Given the description of an element on the screen output the (x, y) to click on. 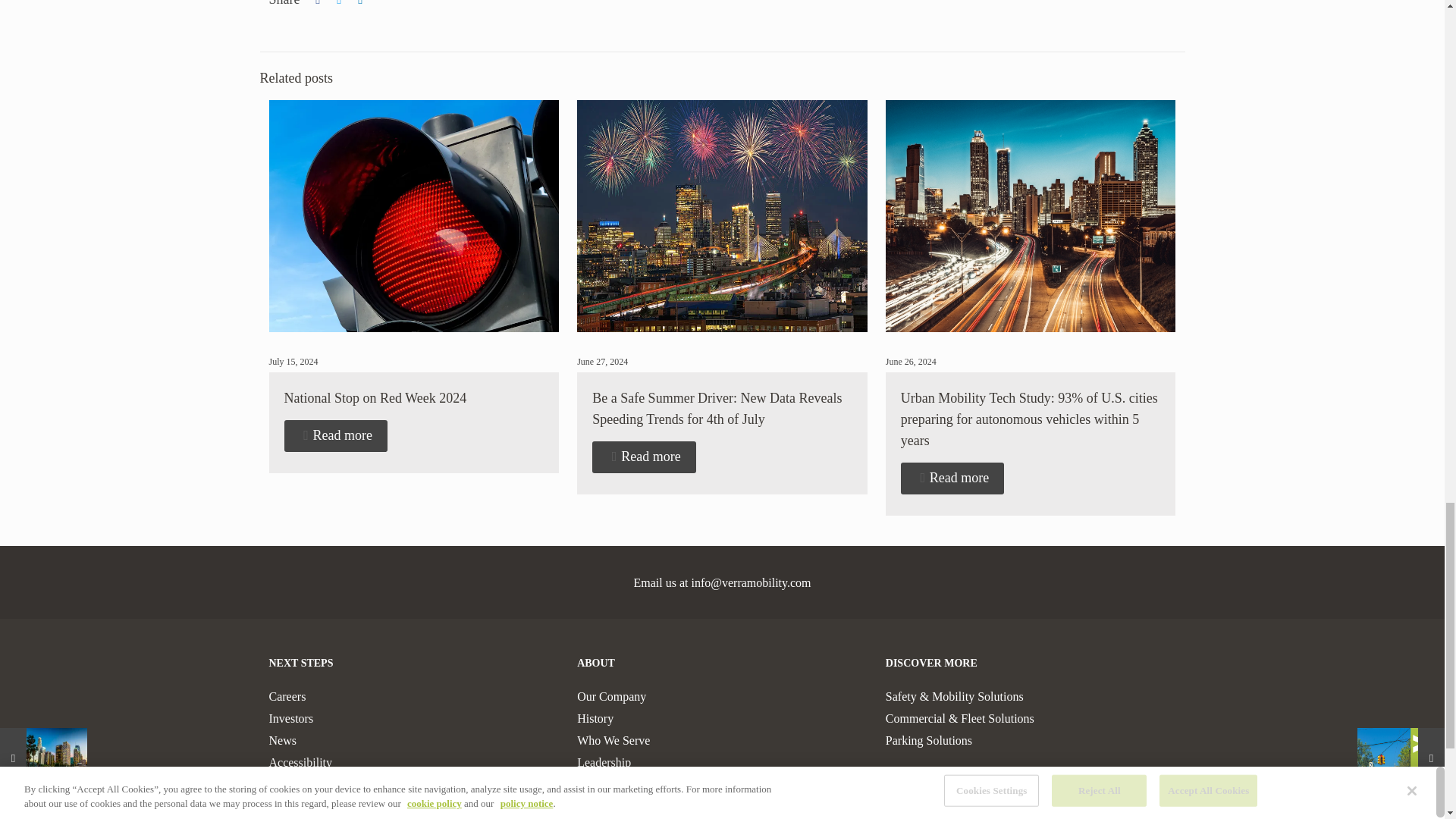
Accessibility (299, 762)
